Given the description of an element on the screen output the (x, y) to click on. 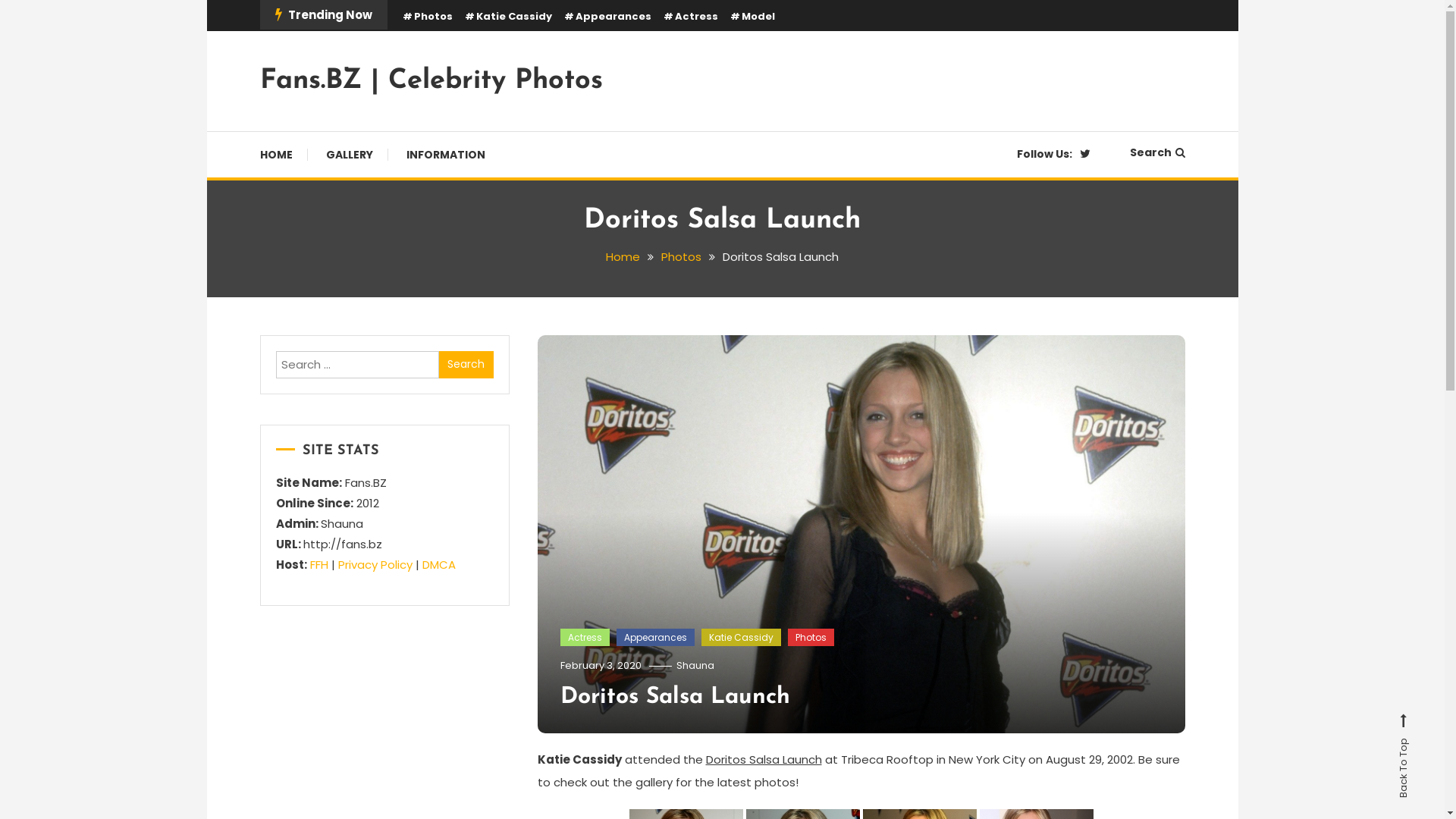
Search Element type: text (770, 432)
Photos Element type: text (810, 637)
Search Element type: text (1157, 152)
February 3, 2020 Element type: text (599, 665)
Shauna Element type: text (695, 665)
Model Element type: text (751, 16)
GALLERY Element type: text (349, 154)
Doritos Salsa Launch Element type: text (674, 697)
Fans.BZ | Celebrity Photos Element type: text (430, 80)
Search Element type: text (466, 364)
INFORMATION Element type: text (445, 154)
Privacy Policy Element type: text (375, 564)
FFH Element type: text (318, 564)
Appearances Element type: text (654, 637)
HOME Element type: text (283, 154)
Photos Element type: text (681, 256)
Katie Cassidy Element type: text (507, 16)
Katie Cassidy Element type: text (740, 637)
Actress Element type: text (583, 637)
Actress Element type: text (689, 16)
DMCA Element type: text (438, 564)
Appearances Element type: text (607, 16)
Home Element type: text (622, 256)
Photos Element type: text (426, 16)
